Given the description of an element on the screen output the (x, y) to click on. 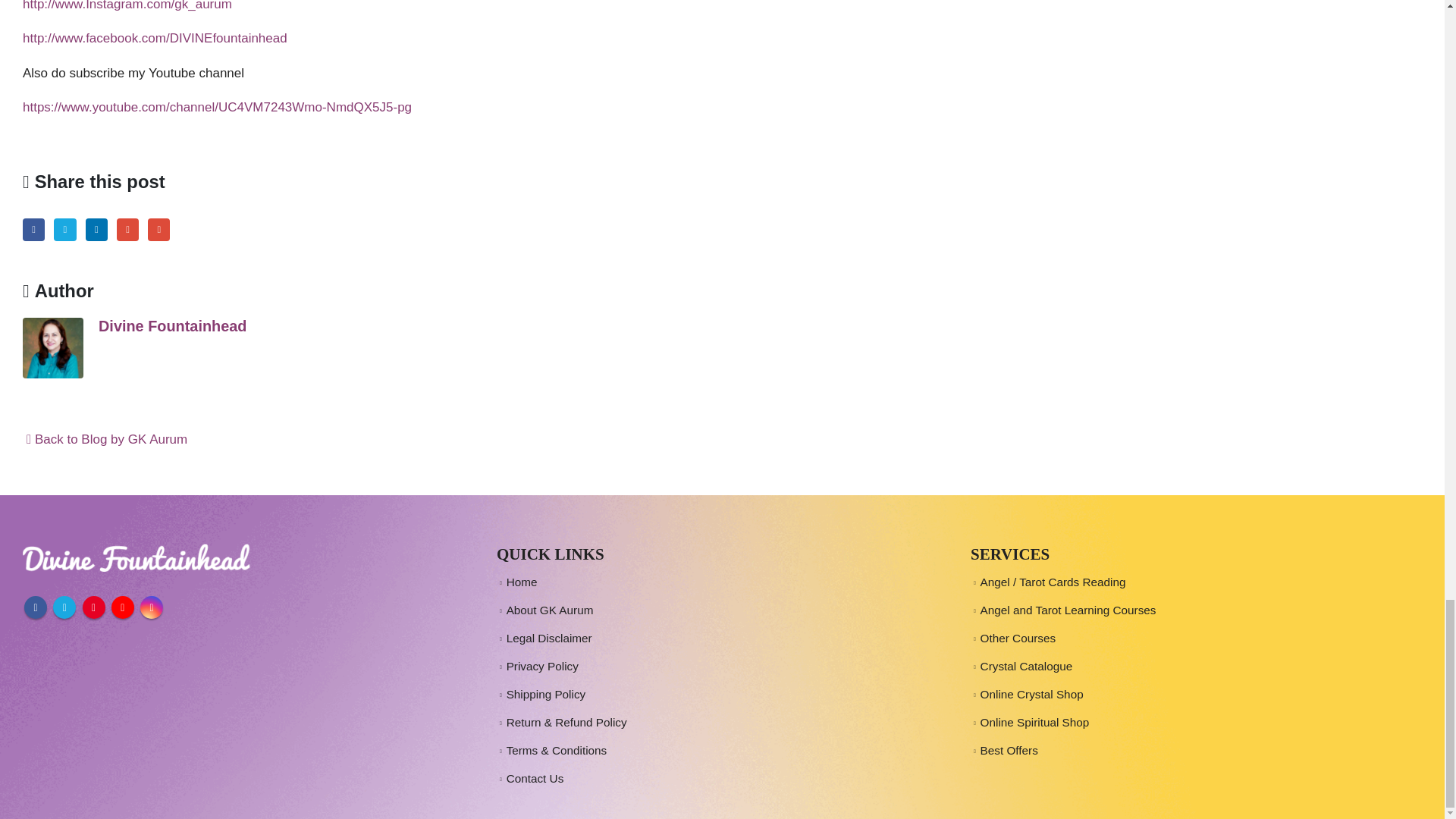
Posts by Divine Fountainhead (172, 325)
